Given the description of an element on the screen output the (x, y) to click on. 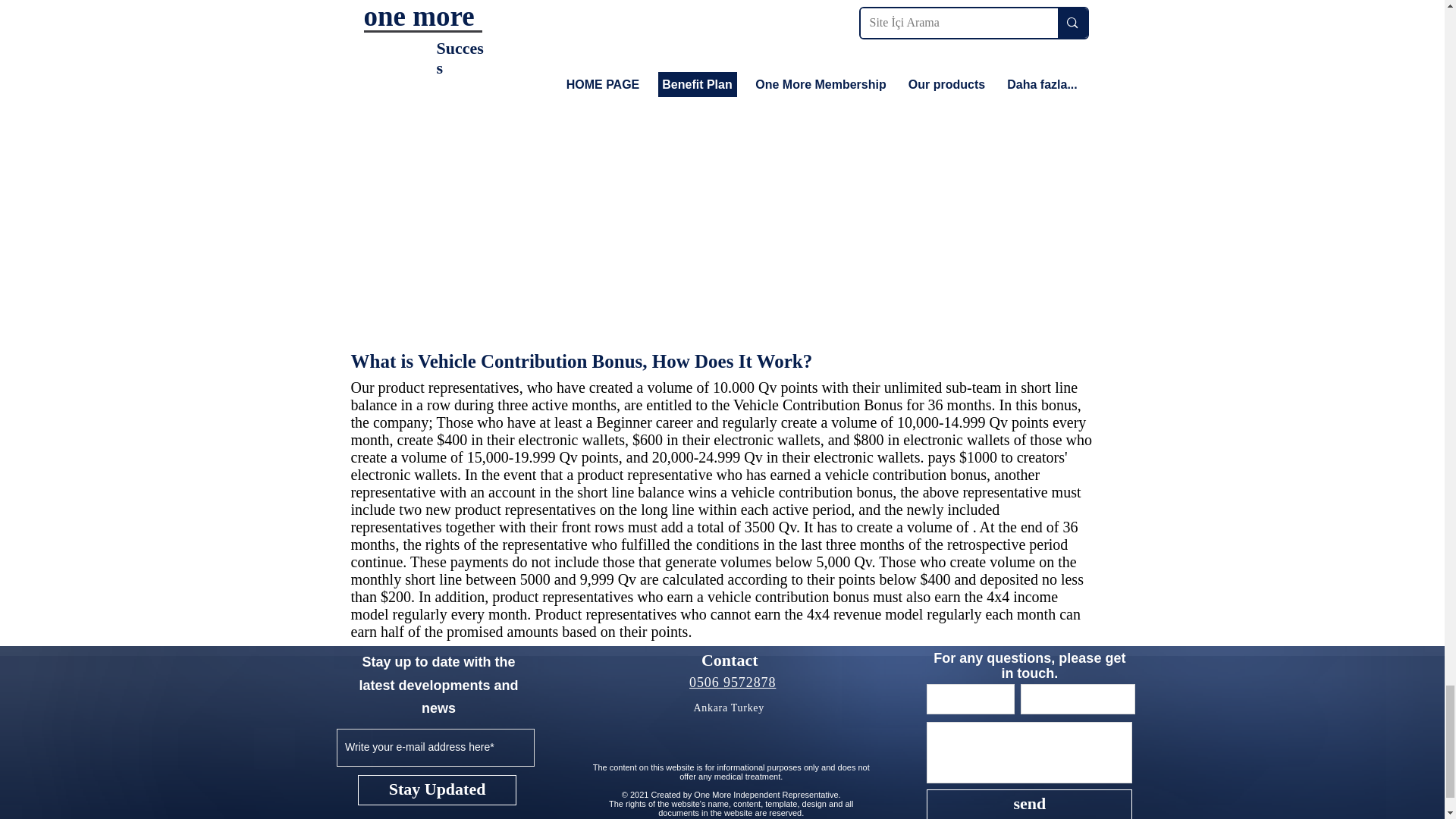
Stay Updated (437, 789)
send (1029, 804)
0506 9572878 (732, 682)
